Given the description of an element on the screen output the (x, y) to click on. 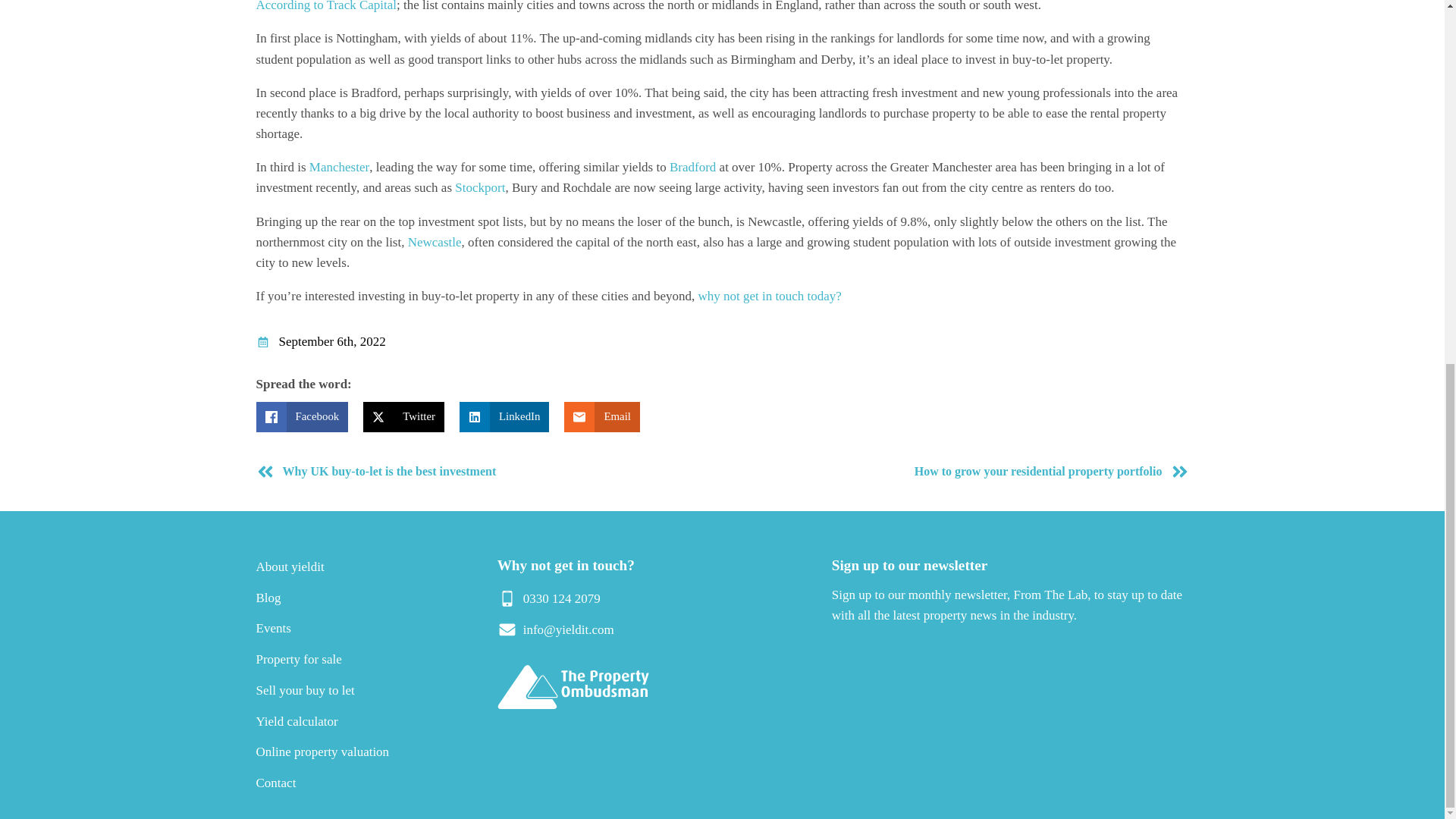
why not get in touch today? (769, 296)
Property for sale (299, 658)
According to Track Capital (326, 6)
Bradford (692, 166)
Stockport (479, 187)
Manchester (338, 166)
Why UK buy-to-let is the best investment (485, 471)
About yieldit (290, 566)
Online property valuation (323, 751)
Yield calculator (296, 721)
